Given the description of an element on the screen output the (x, y) to click on. 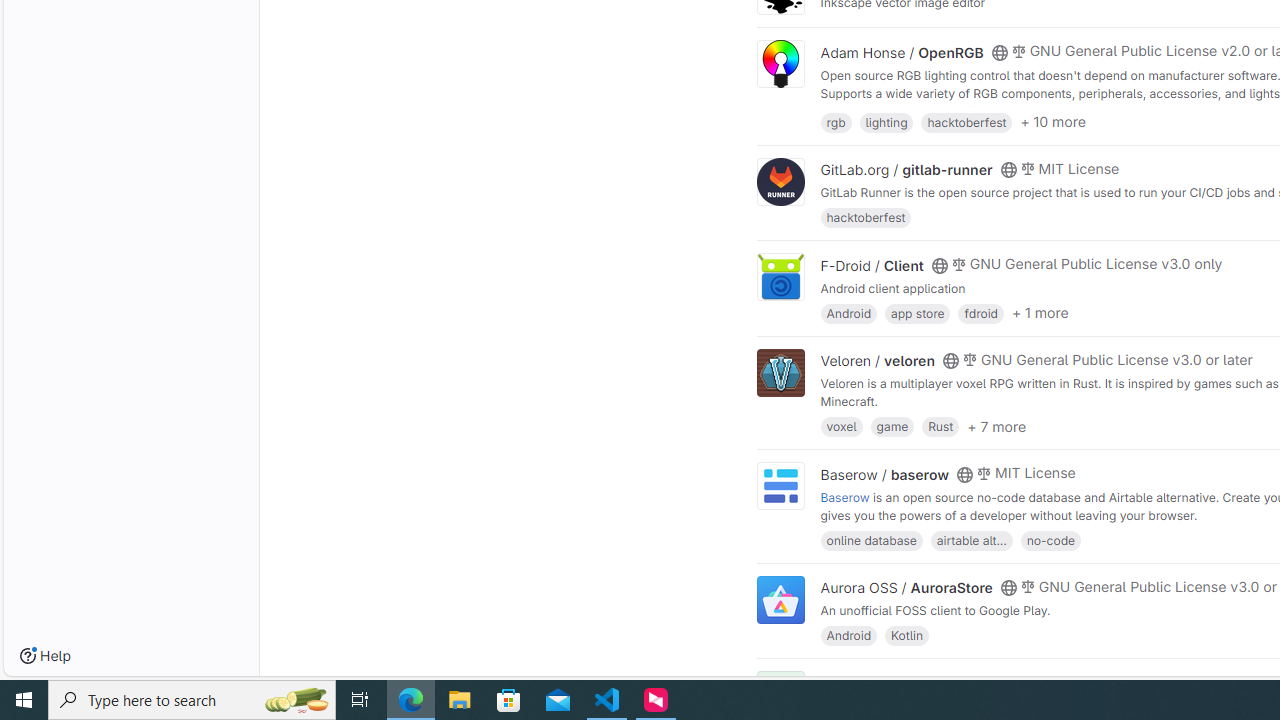
airtable alt... (971, 539)
Help (45, 655)
F-Droid / Client (872, 265)
app store (917, 312)
game (892, 426)
Rust (940, 426)
Baserow (845, 496)
Aurora OSS / AuroraStore (906, 587)
Veloren / veloren (877, 361)
+ 7 more (996, 425)
fdroid (980, 312)
https://openrgb.org (989, 110)
Android (848, 634)
no-code (1050, 539)
GitLab.org / gitlab-runner (906, 170)
